Given the description of an element on the screen output the (x, y) to click on. 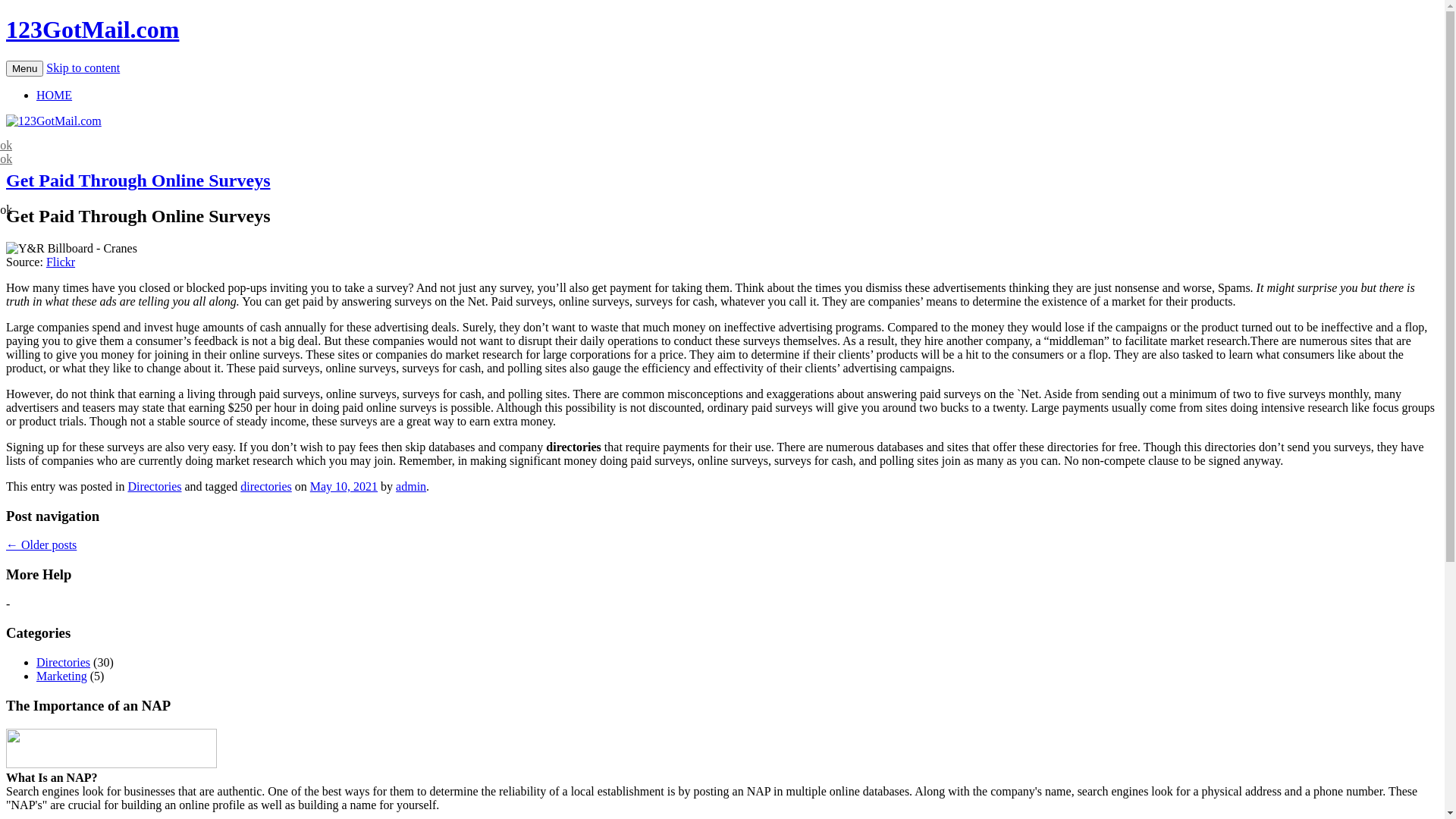
Menu Element type: text (24, 68)
Skip to content Element type: text (82, 67)
123GotMail.com Element type: text (92, 29)
Directories Element type: text (154, 486)
HOME Element type: text (54, 94)
directories Element type: text (265, 486)
Marketing Element type: text (61, 675)
Get Paid Through Online Surveys Element type: text (138, 180)
May 10, 2021 Element type: text (343, 486)
admin Element type: text (410, 486)
Directories Element type: text (63, 661)
Flickr Element type: text (60, 261)
